Given the description of an element on the screen output the (x, y) to click on. 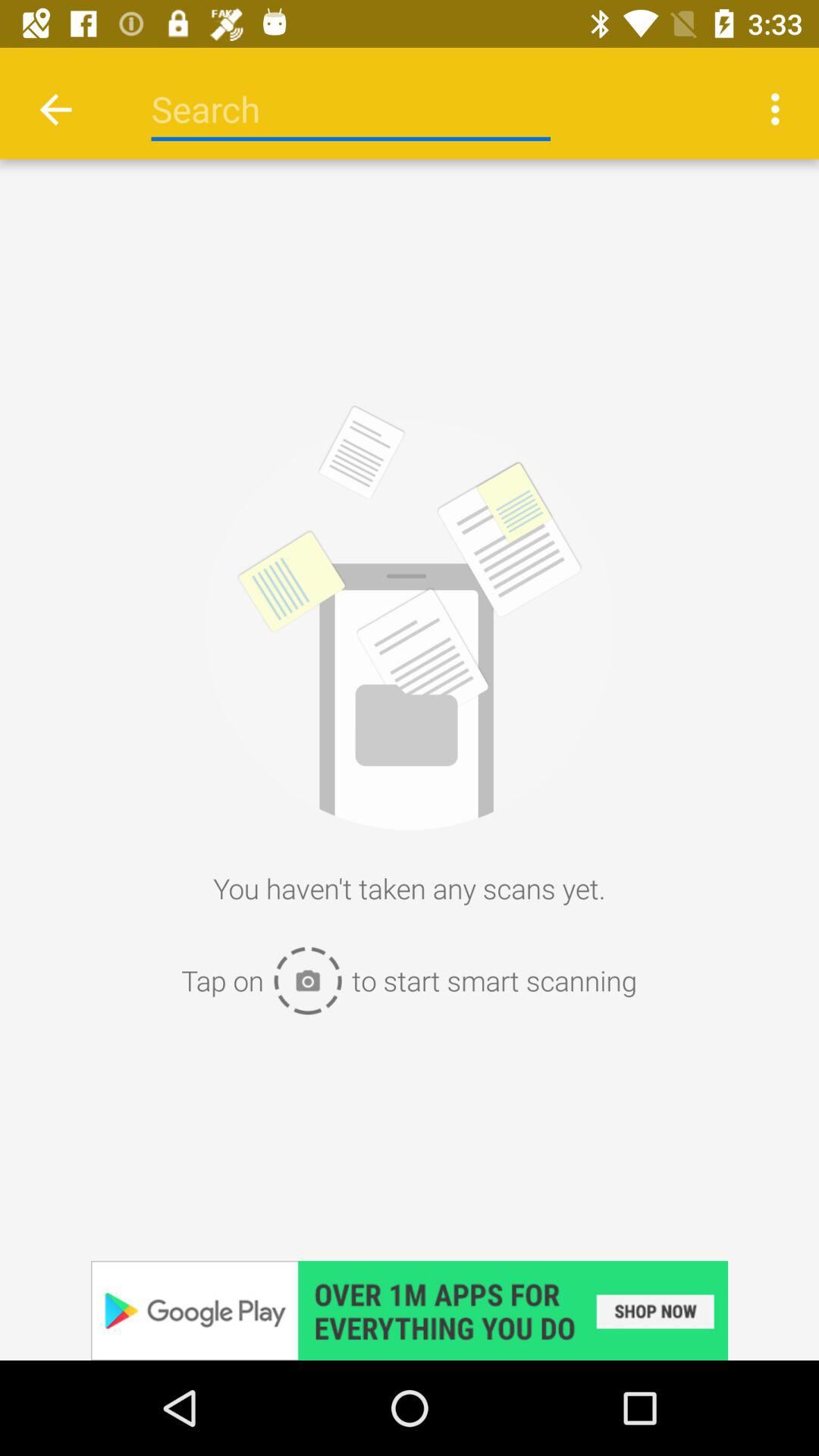
toggle favorite (409, 1310)
